Given the description of an element on the screen output the (x, y) to click on. 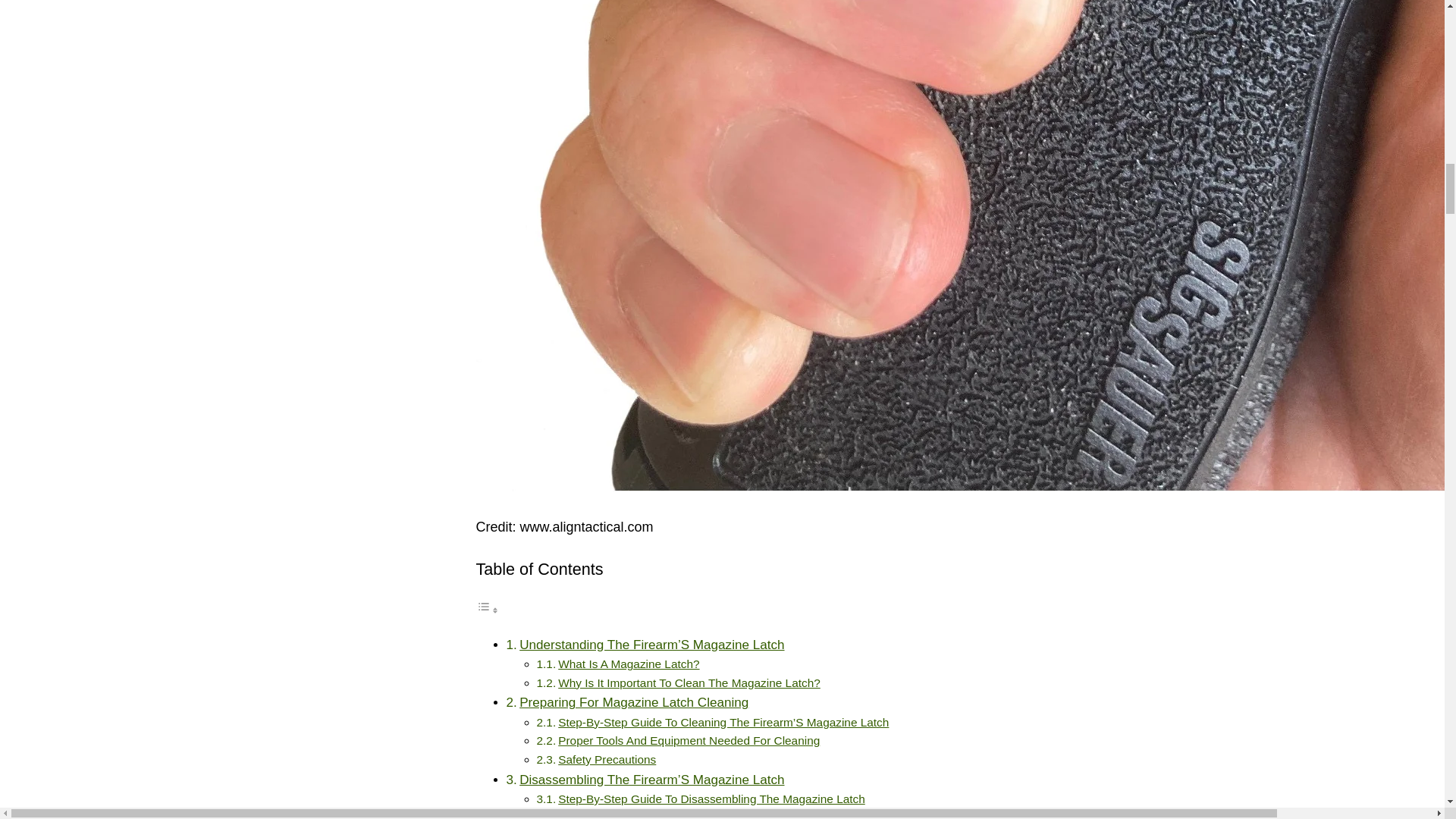
Why Is It Important To Clean The Magazine Latch? (689, 682)
Tips To Ensure Proper Disassembly (649, 815)
What Is A Magazine Latch? (627, 663)
Tips To Ensure Proper Disassembly (649, 815)
Preparing For Magazine Latch Cleaning (633, 702)
Proper Tools And Equipment Needed For Cleaning (688, 739)
Safety Precautions (606, 758)
Step-By-Step Guide To Disassembling The Magazine Latch (710, 798)
Why Is It Important To Clean The Magazine Latch? (689, 682)
Proper Tools And Equipment Needed For Cleaning (688, 739)
Step-By-Step Guide To Disassembling The Magazine Latch (710, 798)
Safety Precautions (606, 758)
What Is A Magazine Latch? (627, 663)
Preparing For Magazine Latch Cleaning (633, 702)
